Given the description of an element on the screen output the (x, y) to click on. 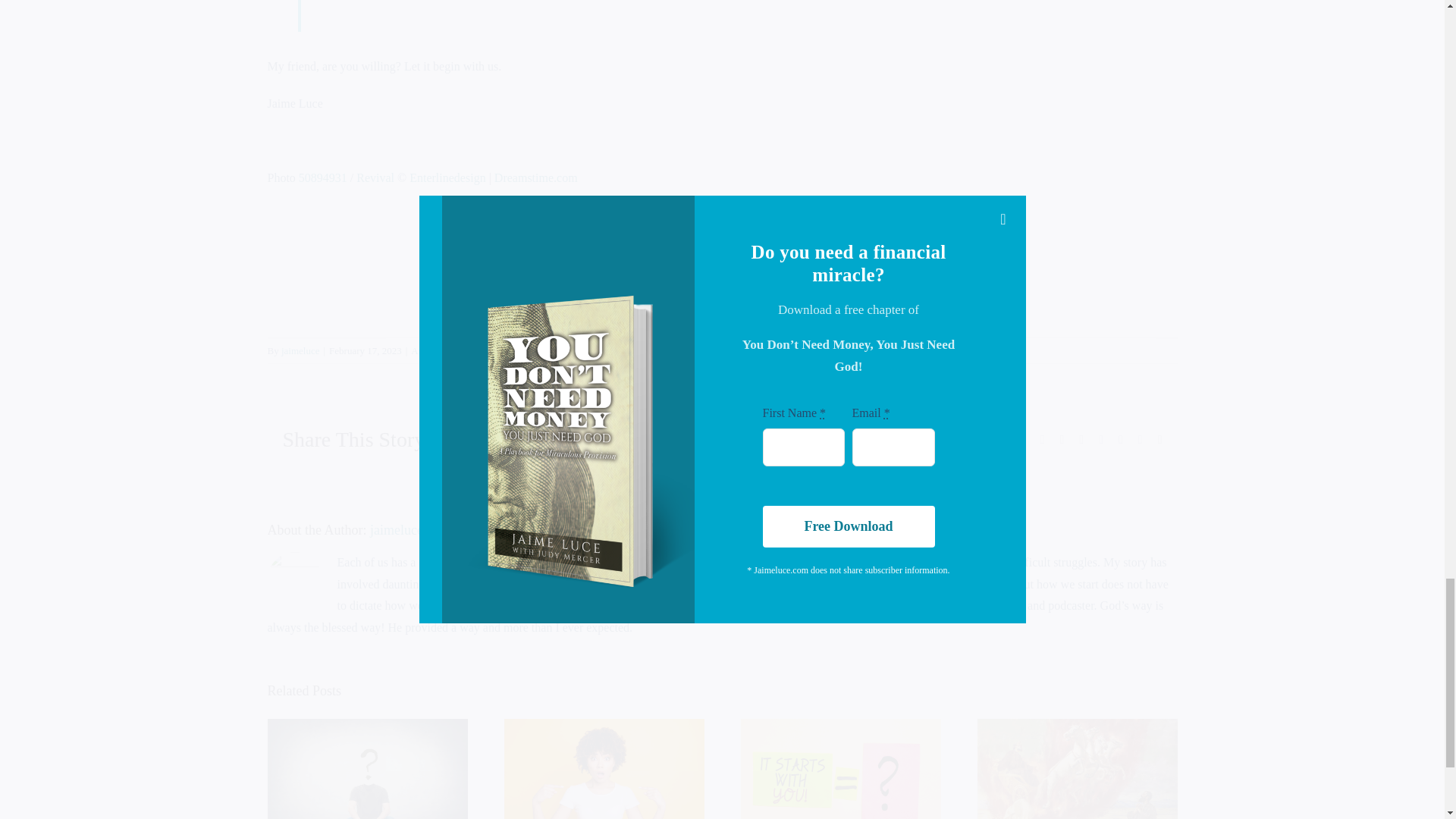
Revival (375, 177)
50894931 (322, 177)
Posts by jaimeluce (300, 350)
